Given the description of an element on the screen output the (x, y) to click on. 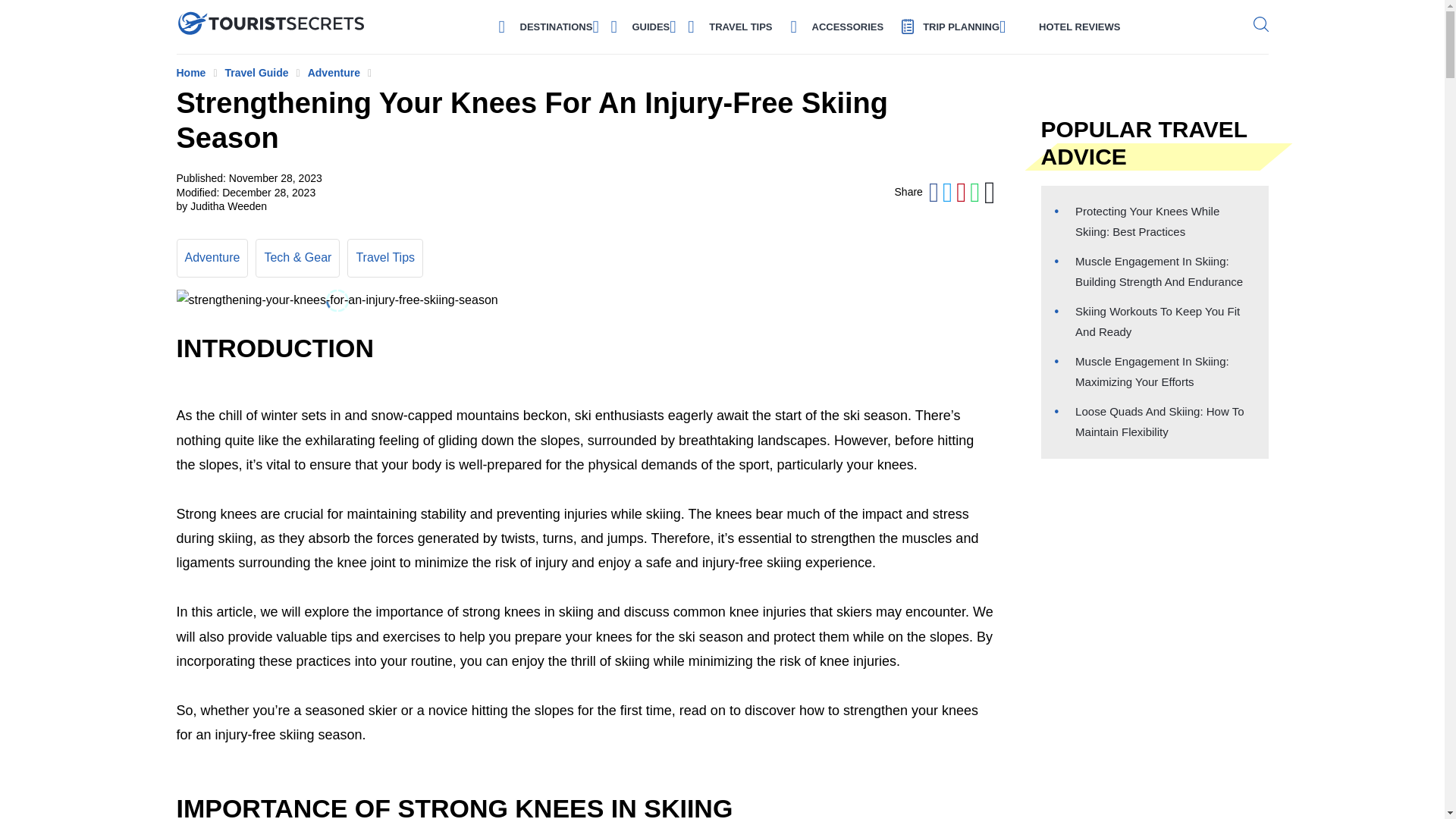
DESTINATIONS (555, 26)
Strengthening-Your-Knees-For-An-Injury-Free-Skiing-Season (336, 300)
